Given the description of an element on the screen output the (x, y) to click on. 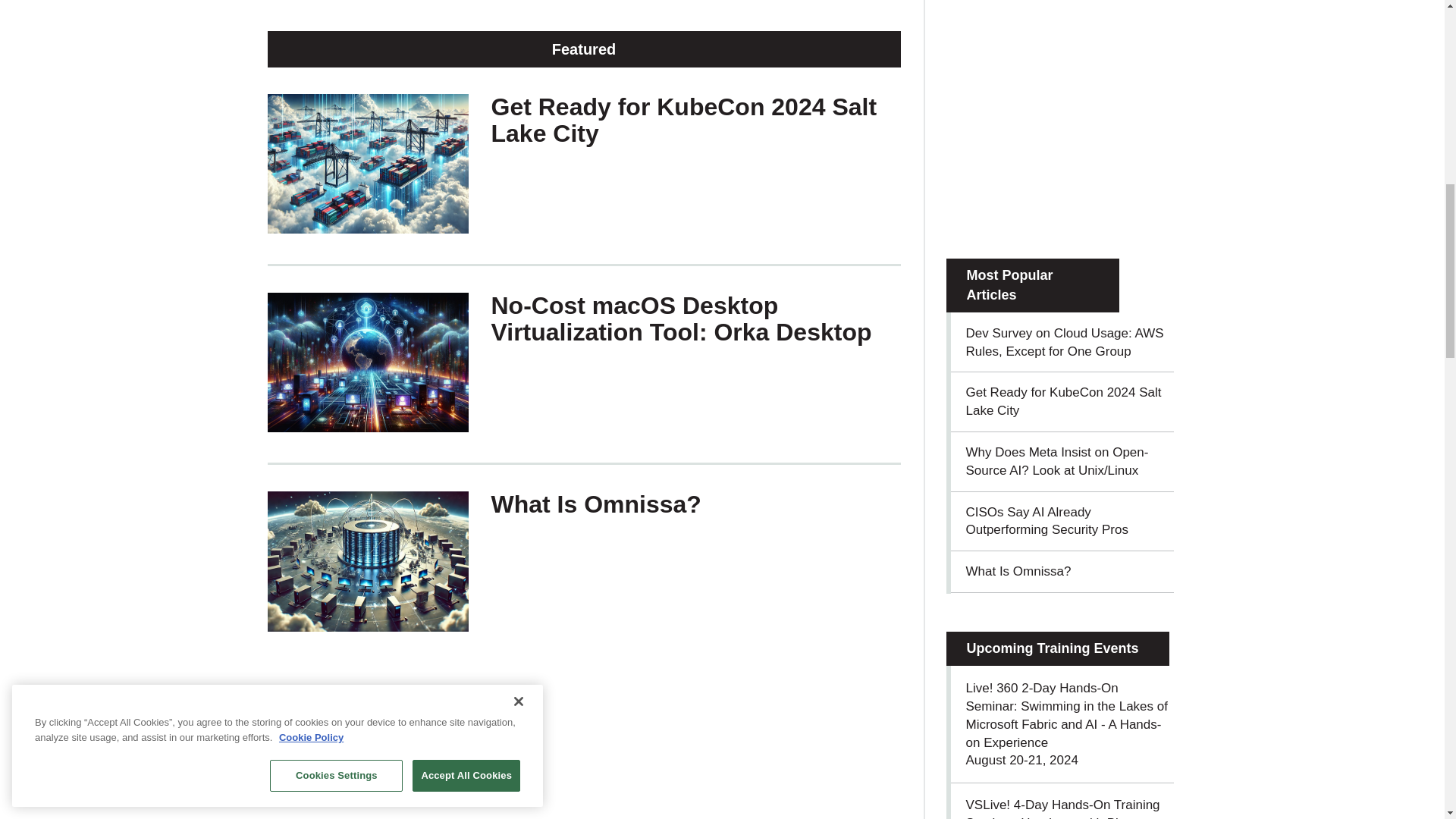
3rd party ad content (1059, 125)
